Given the description of an element on the screen output the (x, y) to click on. 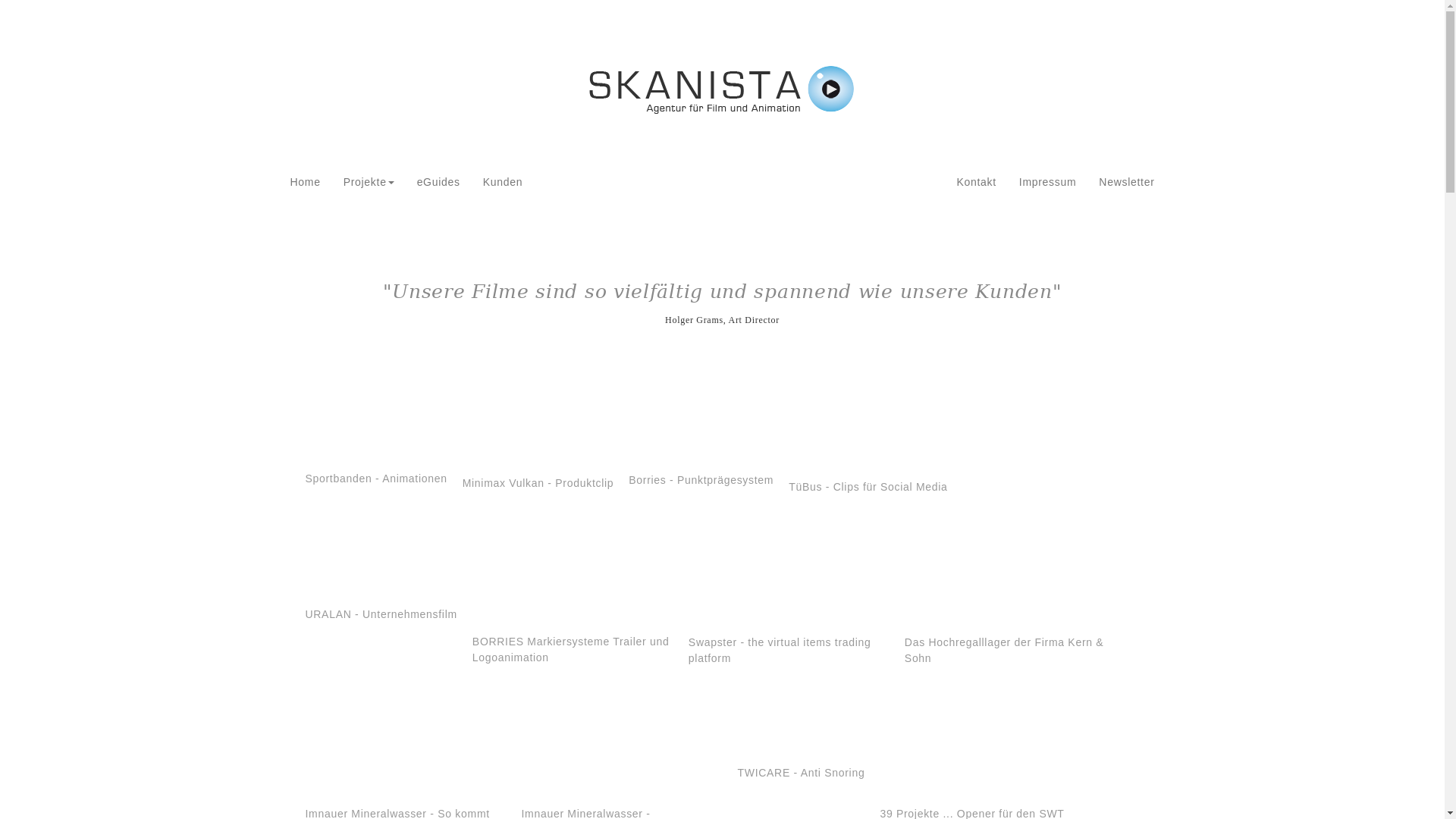
Kunden Element type: text (502, 181)
eGuides Element type: text (438, 181)
Swapster - the virtual items trading platform Element type: hover (784, 568)
Projekte Element type: text (368, 181)
Home Element type: text (305, 181)
Newsletter Element type: text (1126, 181)
Impressum Element type: text (1047, 181)
Kontakt Element type: text (975, 181)
